Given the description of an element on the screen output the (x, y) to click on. 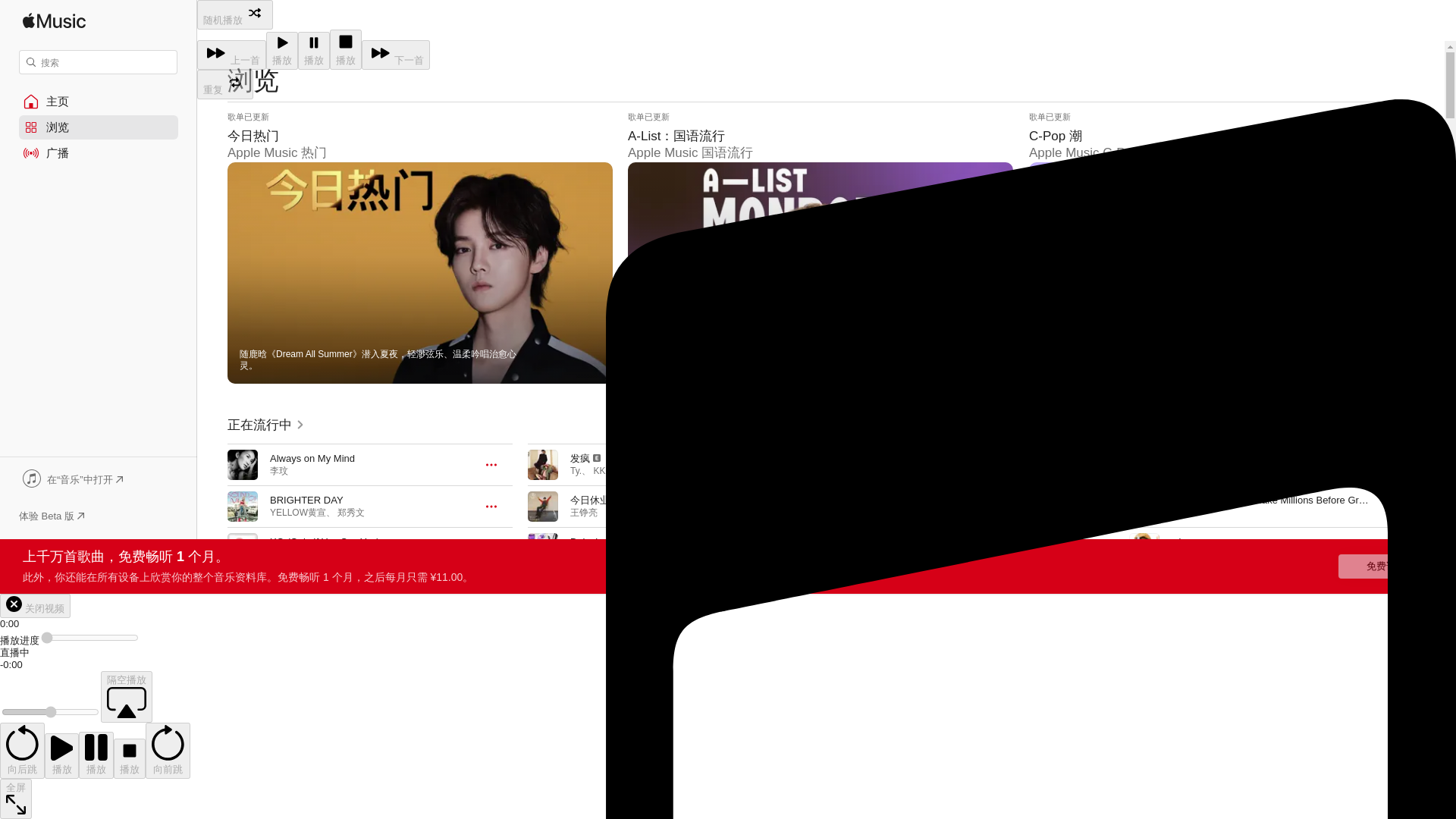
BRIGHTER DAY (306, 500)
ENHYPEN (291, 553)
Always on My Mind (312, 458)
